Given the description of an element on the screen output the (x, y) to click on. 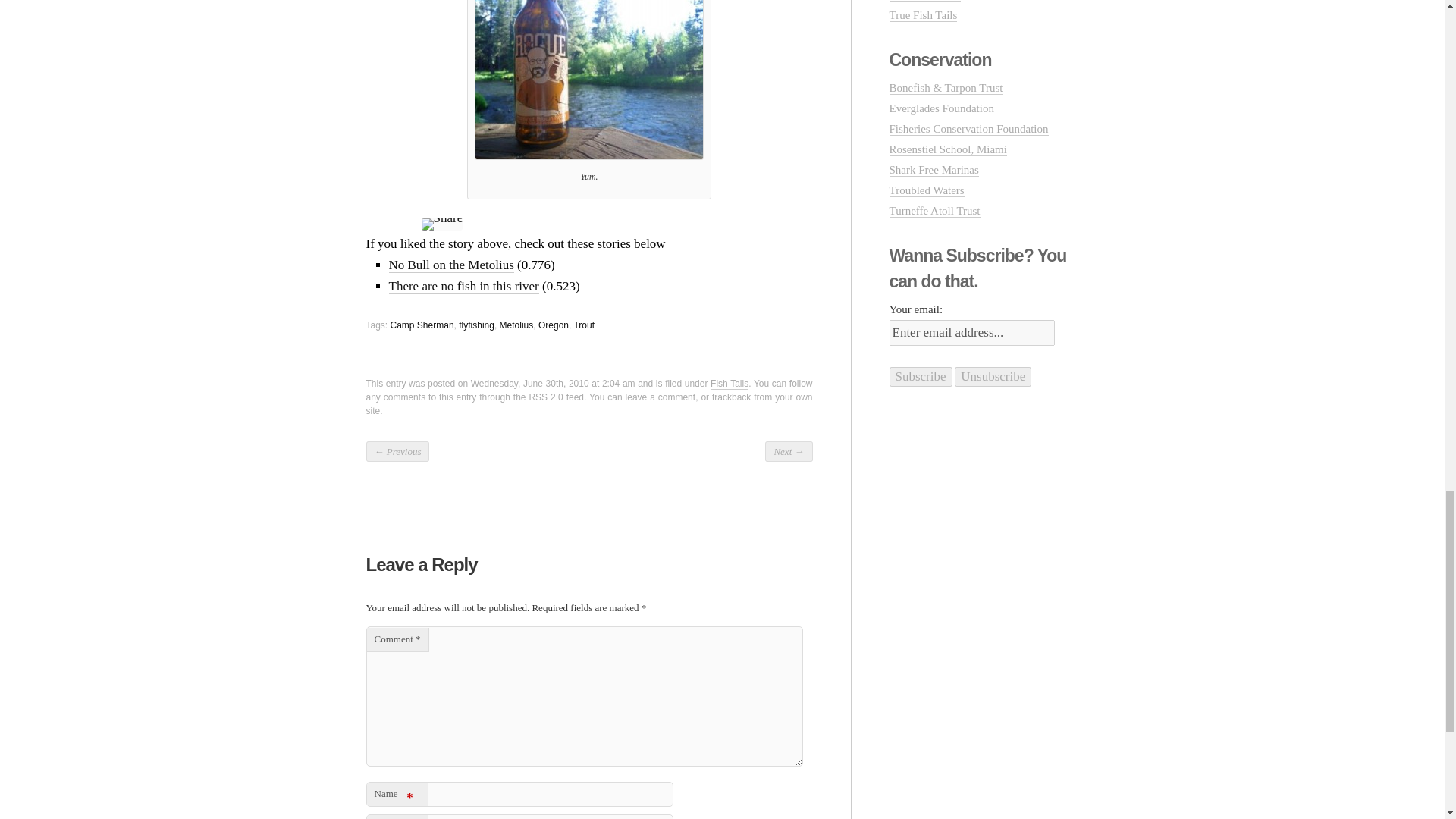
Metolius (516, 325)
Unsubscribe (992, 376)
There are no fish in this river (463, 286)
Subscribe (920, 376)
No Bull on the Metolius (450, 264)
Rouge (588, 79)
Camp Sherman (422, 325)
flyfishing (476, 325)
Enter email address... (971, 332)
